Given the description of an element on the screen output the (x, y) to click on. 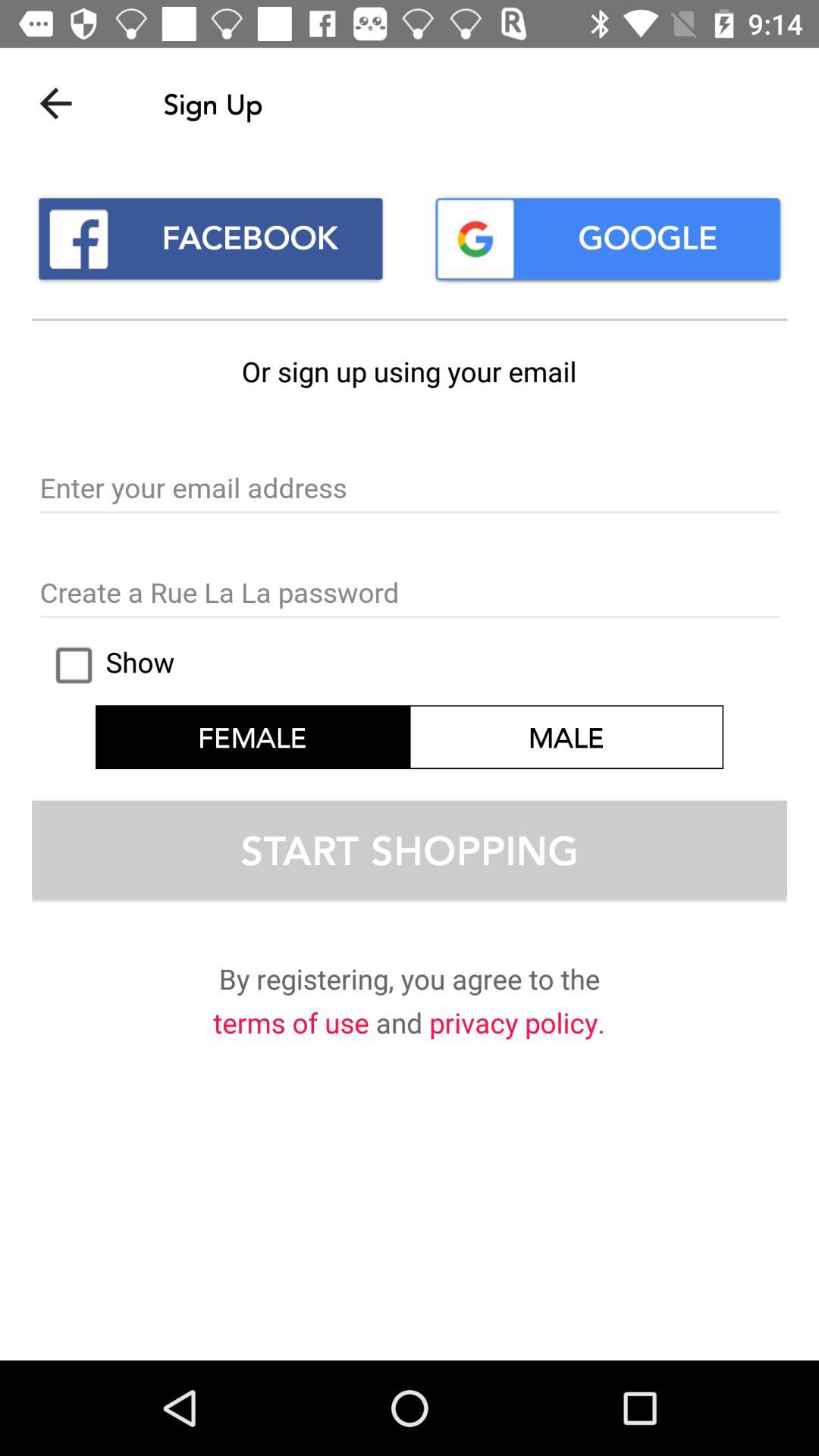
click google icon (607, 238)
